Given the description of an element on the screen output the (x, y) to click on. 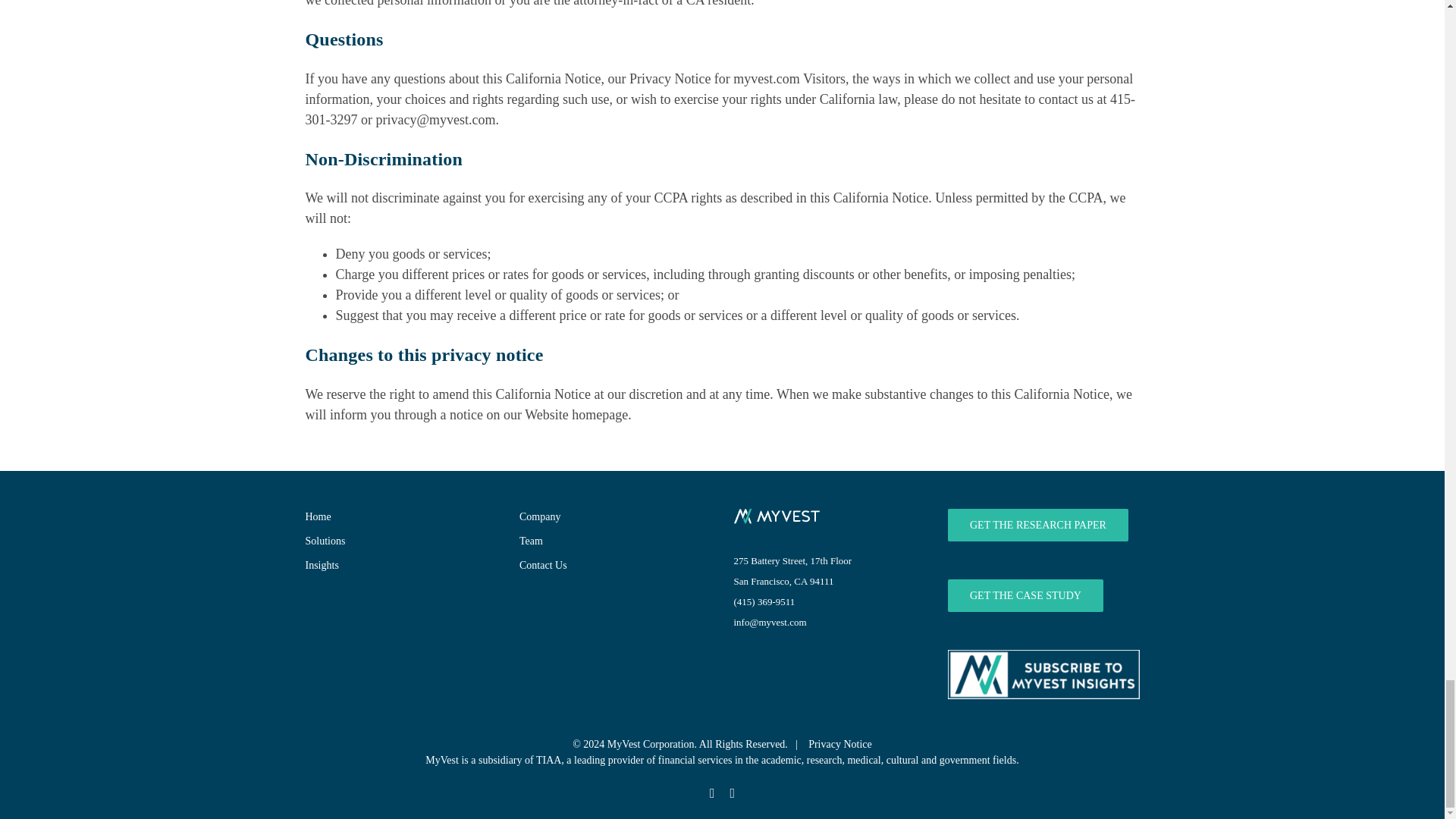
Insights (398, 565)
Company (613, 516)
Privacy Notice (840, 744)
Home (398, 516)
Contact Us (613, 565)
GET THE RESEARCH PAPER (1037, 524)
Team (613, 540)
GET THE CASE STUDY (1025, 595)
Solutions (398, 540)
